Given the description of an element on the screen output the (x, y) to click on. 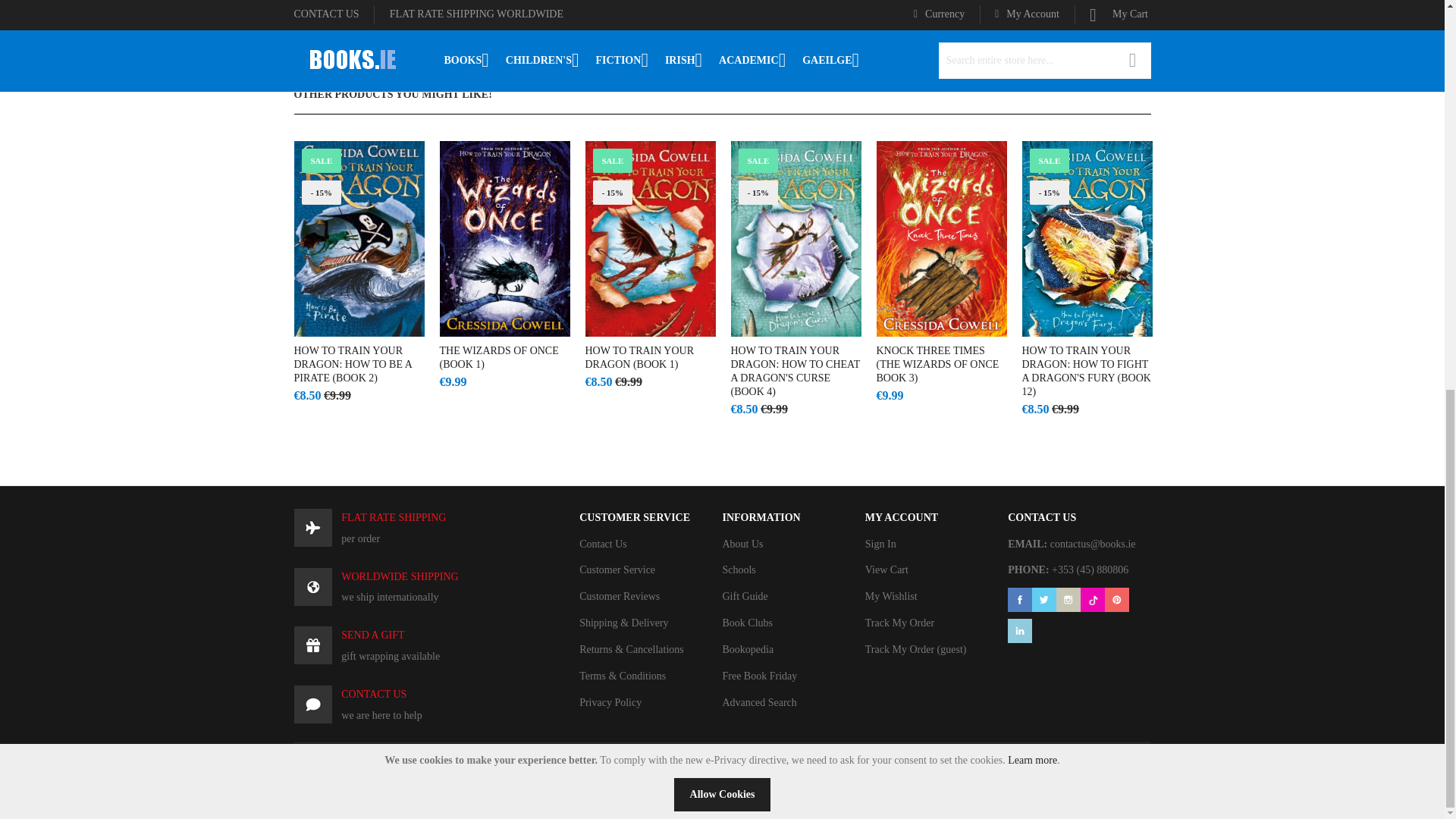
Allow Cookies (722, 53)
Learn more (1032, 19)
